Given the description of an element on the screen output the (x, y) to click on. 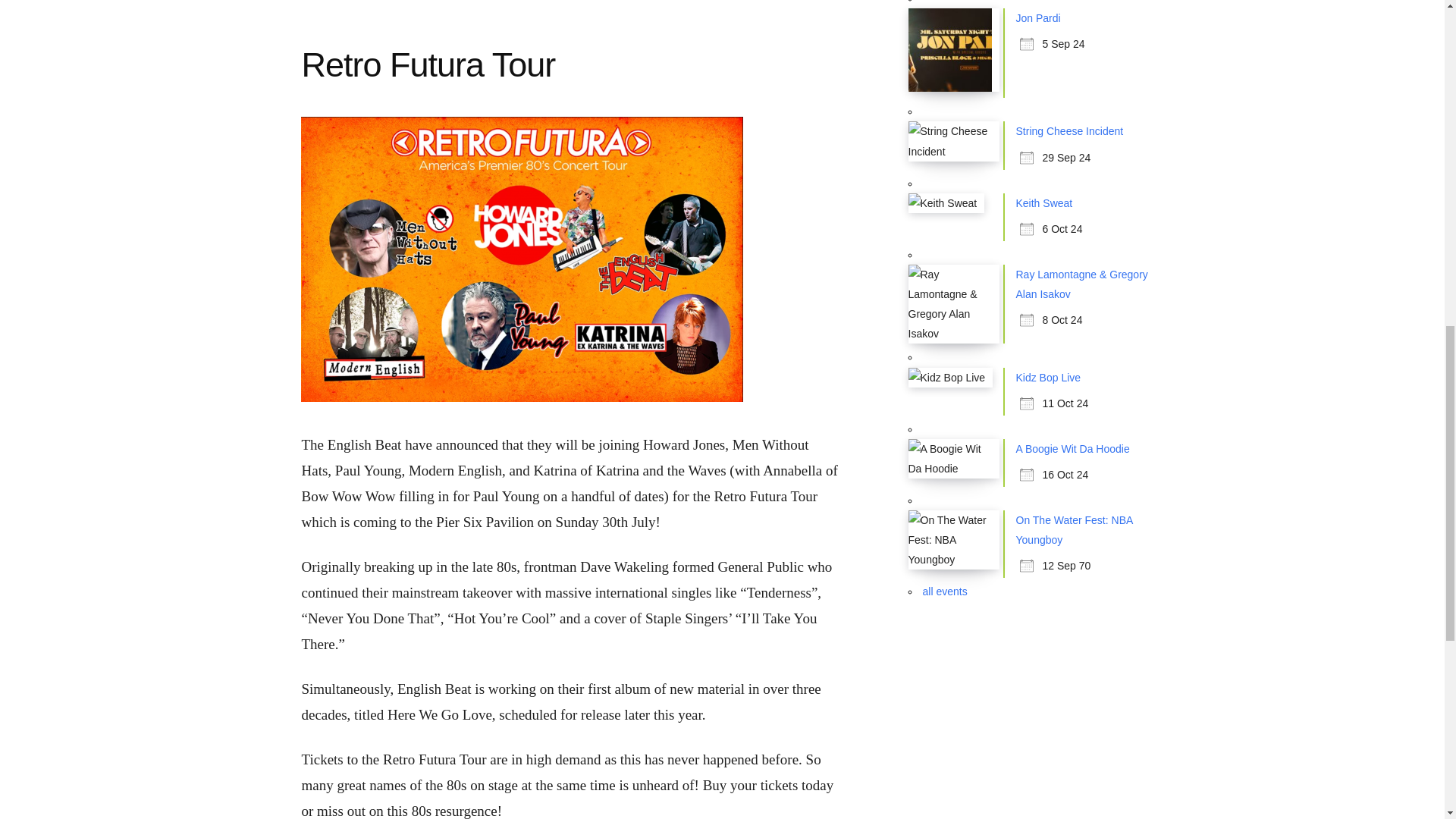
all events (943, 591)
Keith Sweat (1044, 203)
all events (943, 591)
On The Water Fest: NBA Youngboy (1074, 530)
A Boogie Wit Da Hoodie (1072, 449)
Kidz Bop Live (1048, 377)
Jon Pardi (1038, 18)
String Cheese Incident (1070, 131)
